Given the description of an element on the screen output the (x, y) to click on. 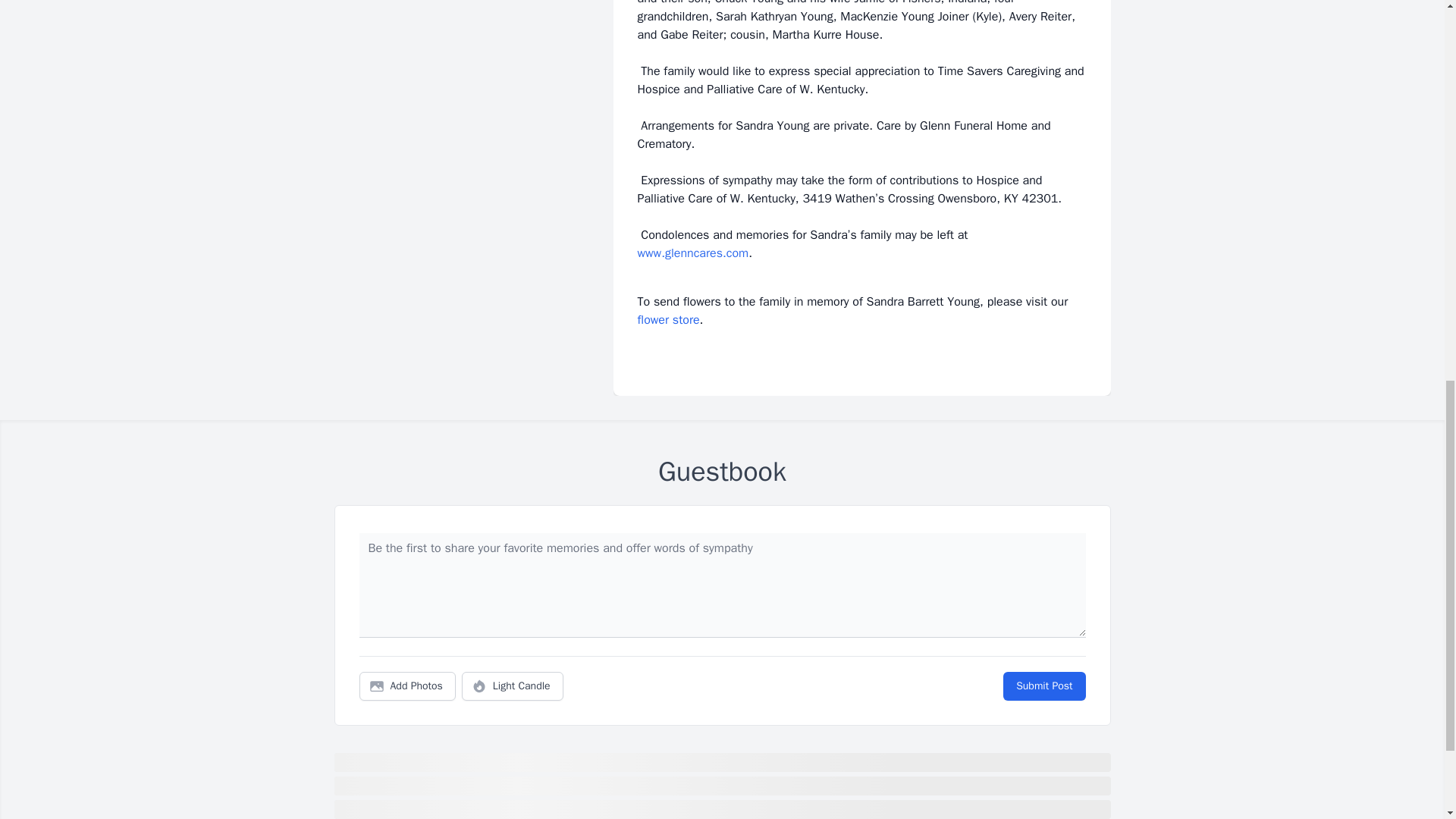
Add Photos (407, 686)
www.glenncares.com (692, 253)
Light Candle (512, 686)
flower store (667, 319)
Submit Post (1043, 686)
